Given the description of an element on the screen output the (x, y) to click on. 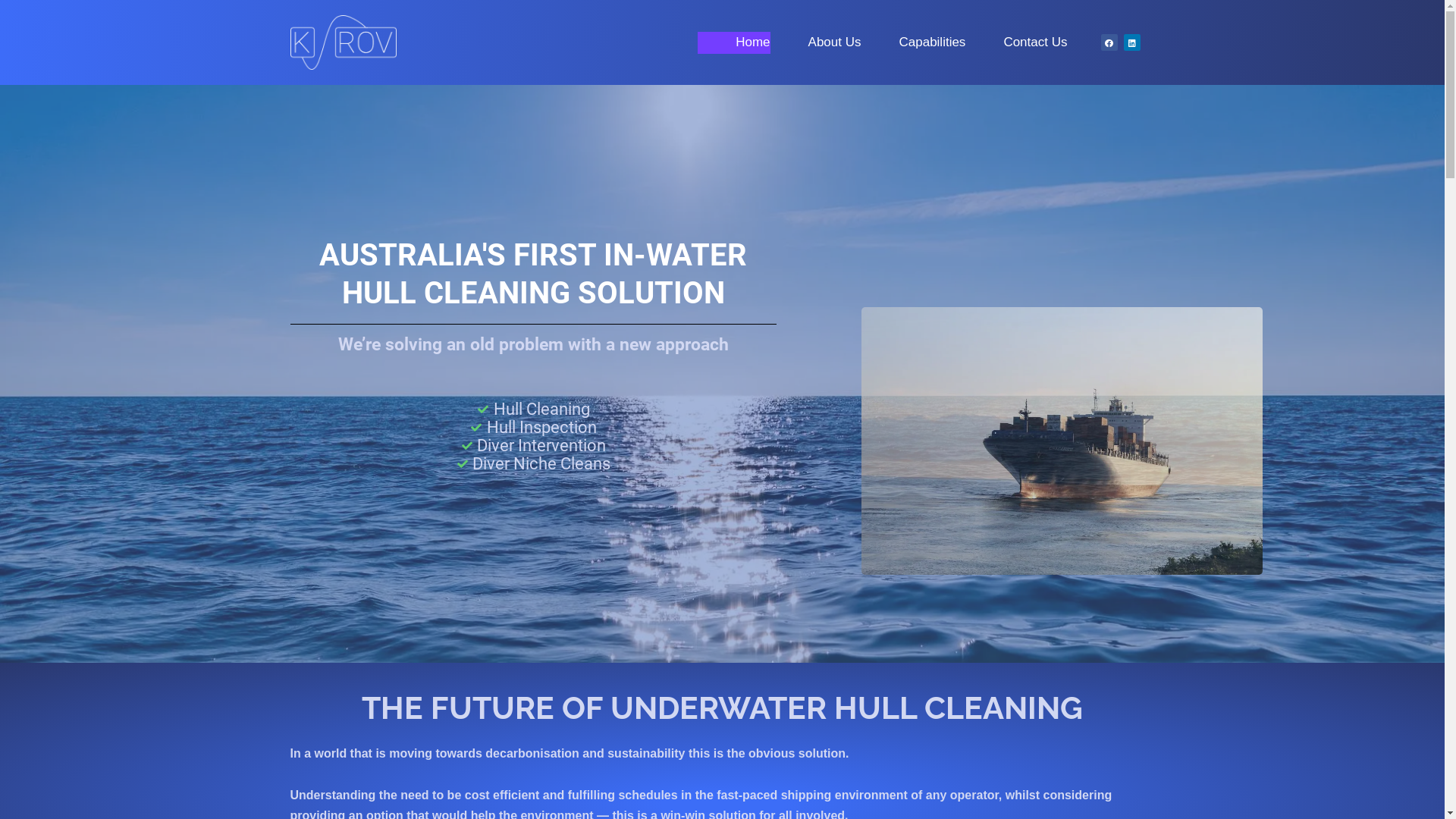
Contact Us Element type: text (1015, 42)
Linkedin Element type: text (1131, 42)
Capabilities Element type: text (912, 42)
About Us Element type: text (815, 42)
Facebook Element type: text (1109, 42)
Home Element type: text (733, 42)
